Given the description of an element on the screen output the (x, y) to click on. 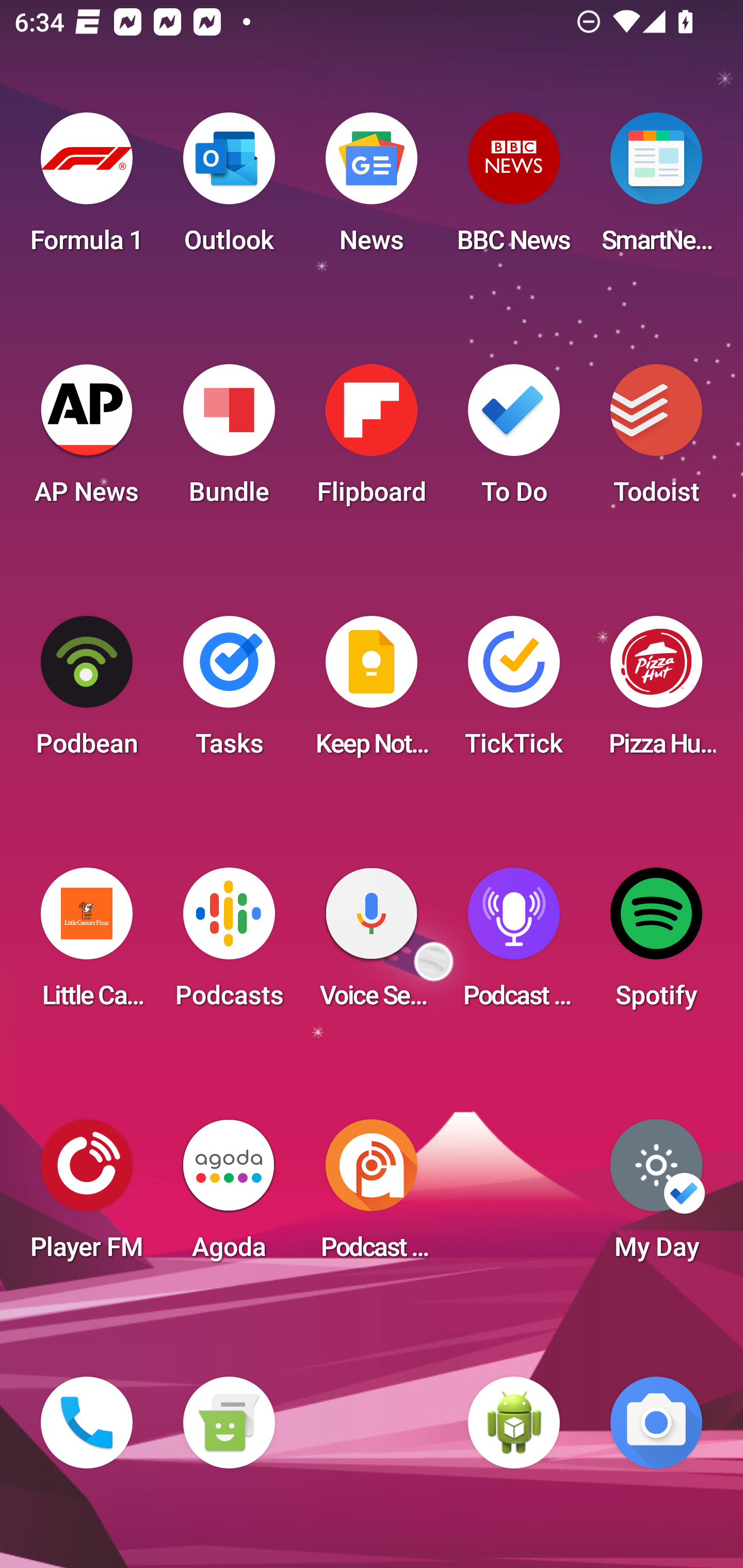
Formula 1 (86, 188)
Outlook (228, 188)
News (371, 188)
BBC News (513, 188)
SmartNews (656, 188)
AP News (86, 440)
Bundle (228, 440)
Flipboard (371, 440)
To Do (513, 440)
Todoist (656, 440)
Podbean (86, 692)
Tasks (228, 692)
Keep Notes (371, 692)
TickTick (513, 692)
Pizza Hut HK & Macau (656, 692)
Little Caesars Pizza (86, 943)
Podcasts (228, 943)
Voice Search (371, 943)
Podcast Player (513, 943)
Spotify (656, 943)
Player FM (86, 1195)
Agoda (228, 1195)
Podcast Addict (371, 1195)
My Day (656, 1195)
Phone (86, 1422)
Messaging (228, 1422)
WebView Browser Tester (513, 1422)
Camera (656, 1422)
